Given the description of an element on the screen output the (x, y) to click on. 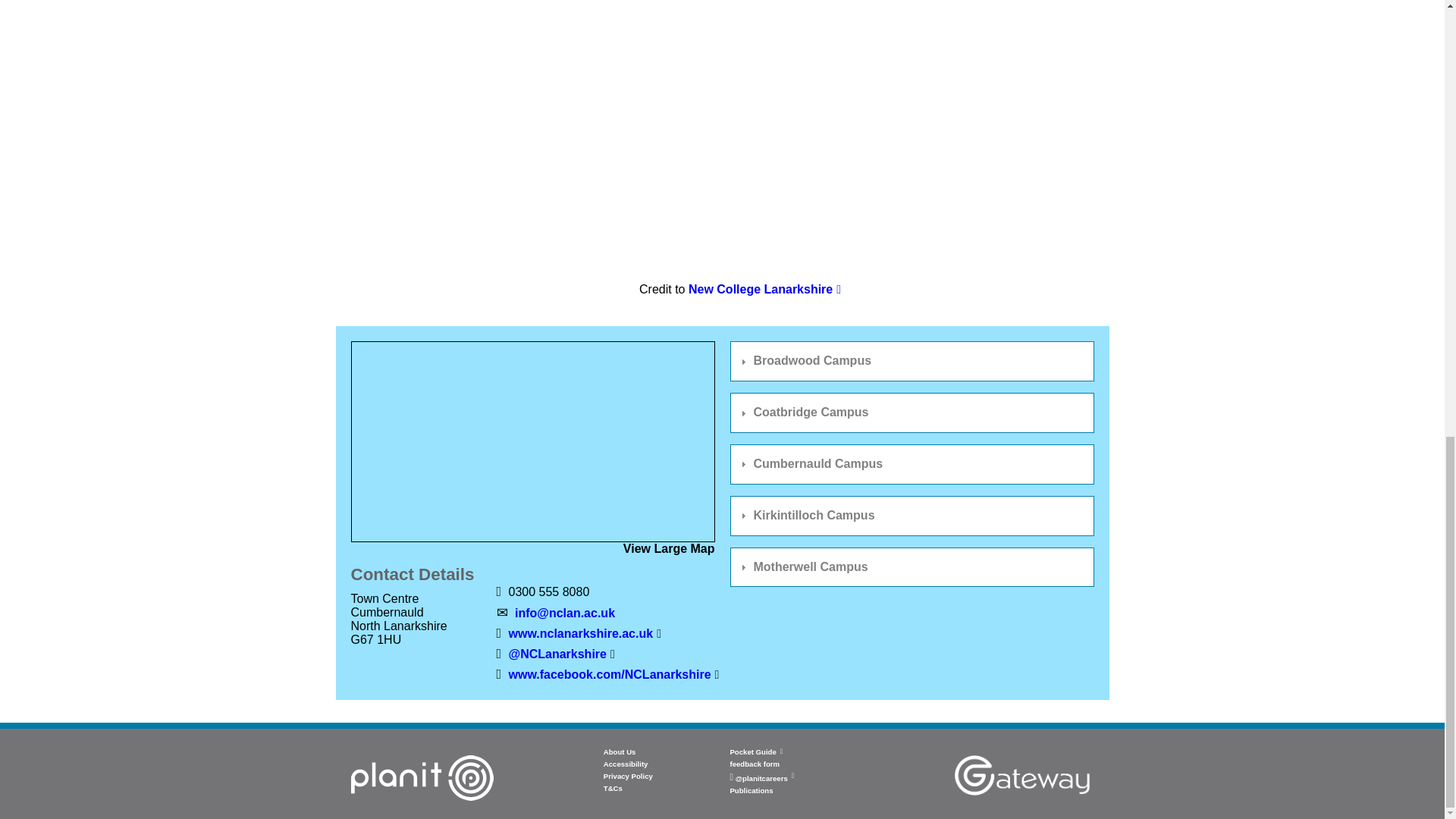
New College Lanarkshire (764, 288)
